Given the description of an element on the screen output the (x, y) to click on. 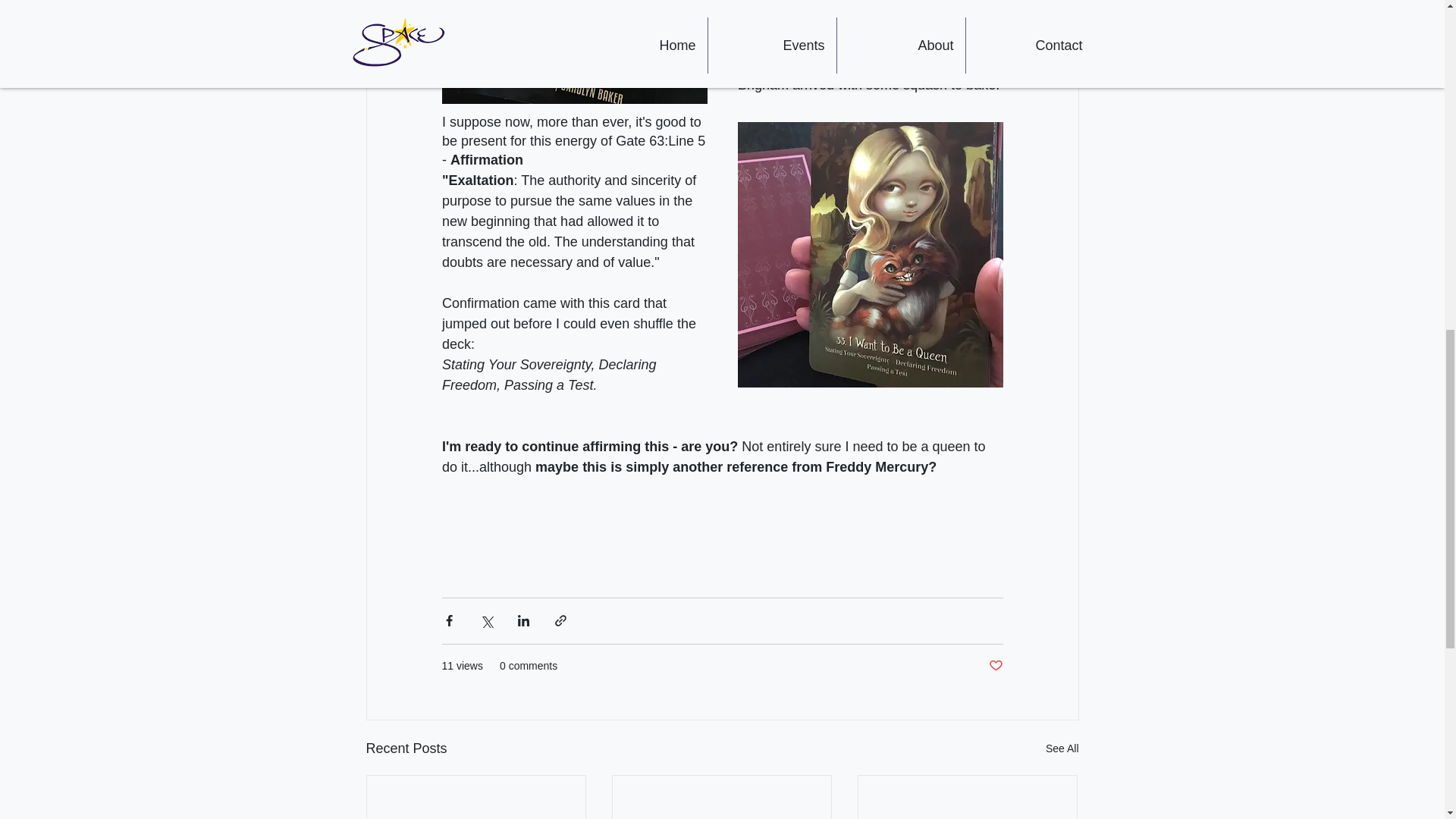
Post not marked as liked (995, 666)
See All (1061, 748)
this guy (863, 5)
